Given the description of an element on the screen output the (x, y) to click on. 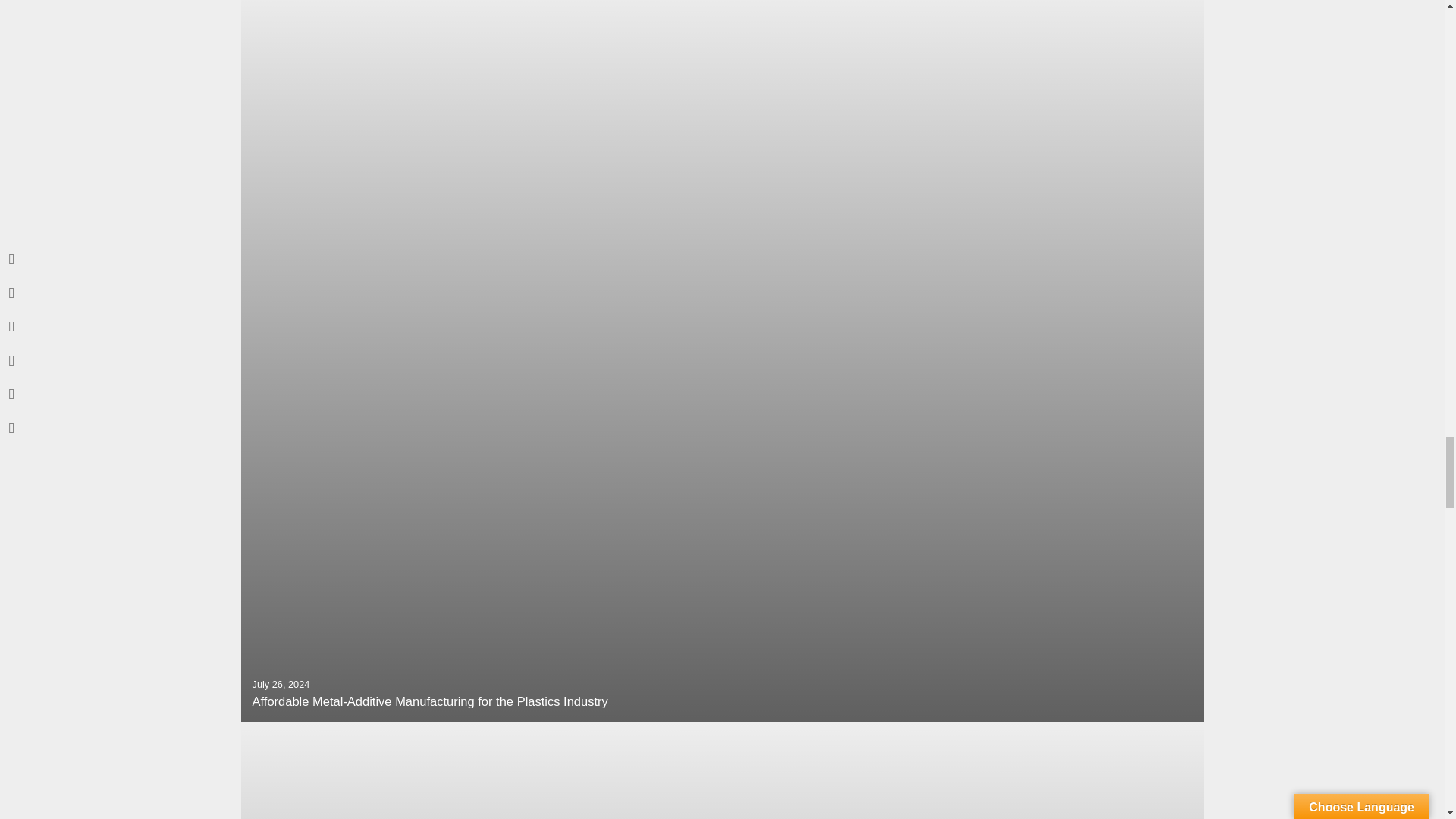
Harmful Additives in Compostable Packaging (722, 770)
